Given the description of an element on the screen output the (x, y) to click on. 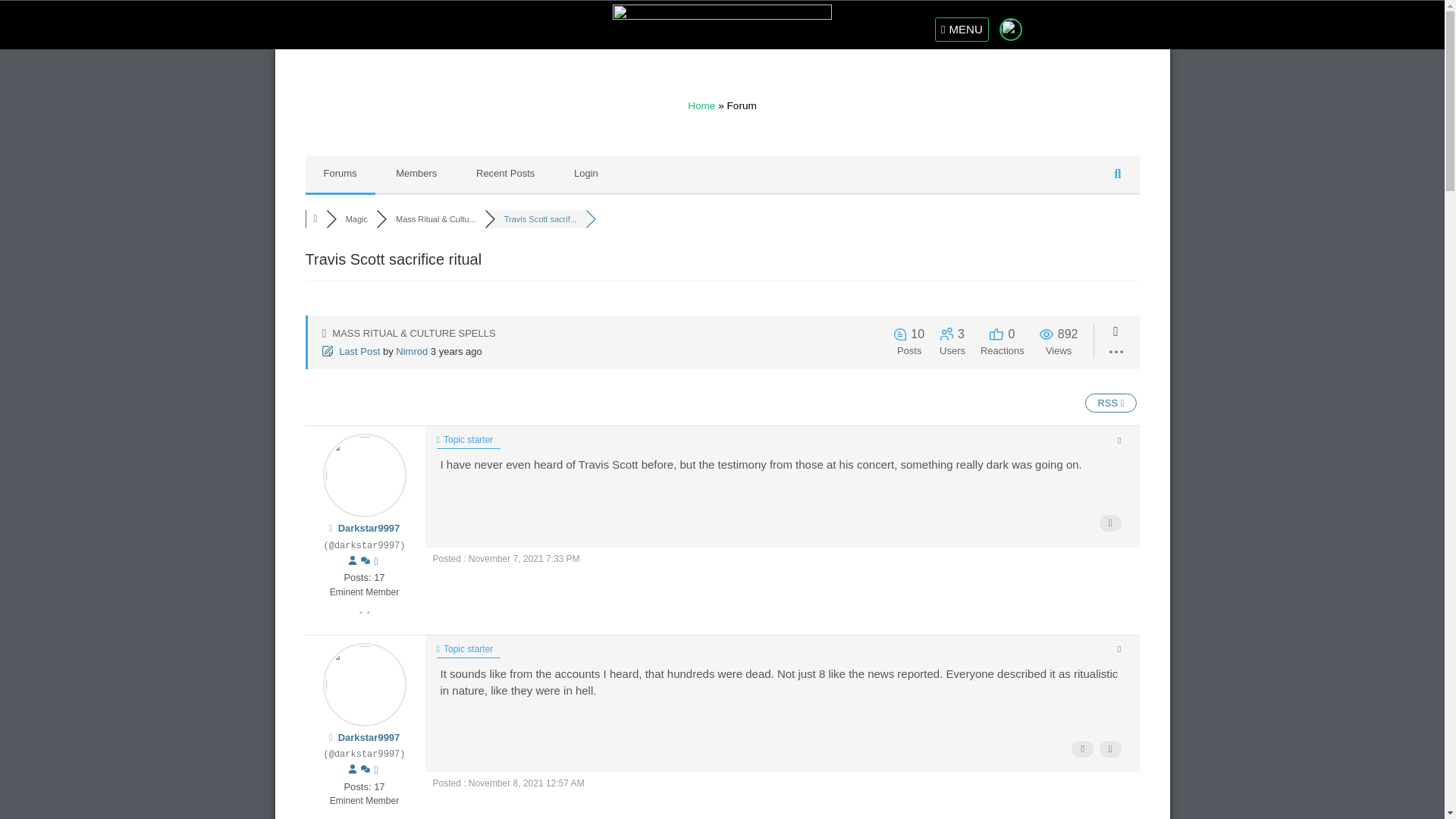
Member Rating Badge (364, 606)
Nimrod (412, 351)
Topic RSS Feed (1109, 402)
Magic (357, 218)
Darkstar9997 (368, 527)
Members (415, 173)
Login (585, 173)
Home (700, 105)
MENU (961, 29)
Rating Title (364, 591)
Last Post (351, 351)
RSS (1109, 402)
Magic (357, 218)
Darkstar9997 (368, 737)
Nimrod (412, 351)
